Given the description of an element on the screen output the (x, y) to click on. 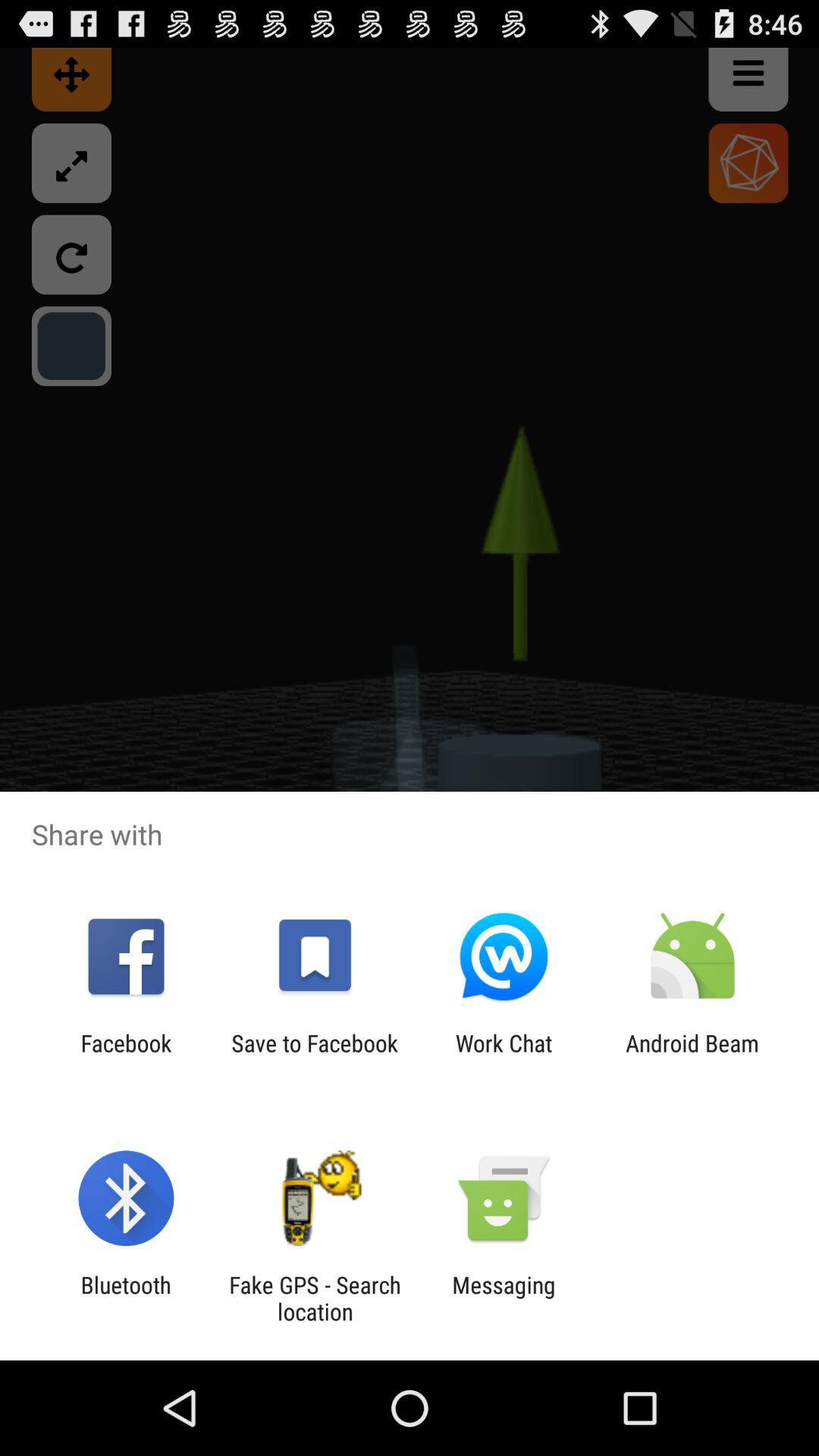
scroll until the fake gps search (314, 1298)
